Given the description of an element on the screen output the (x, y) to click on. 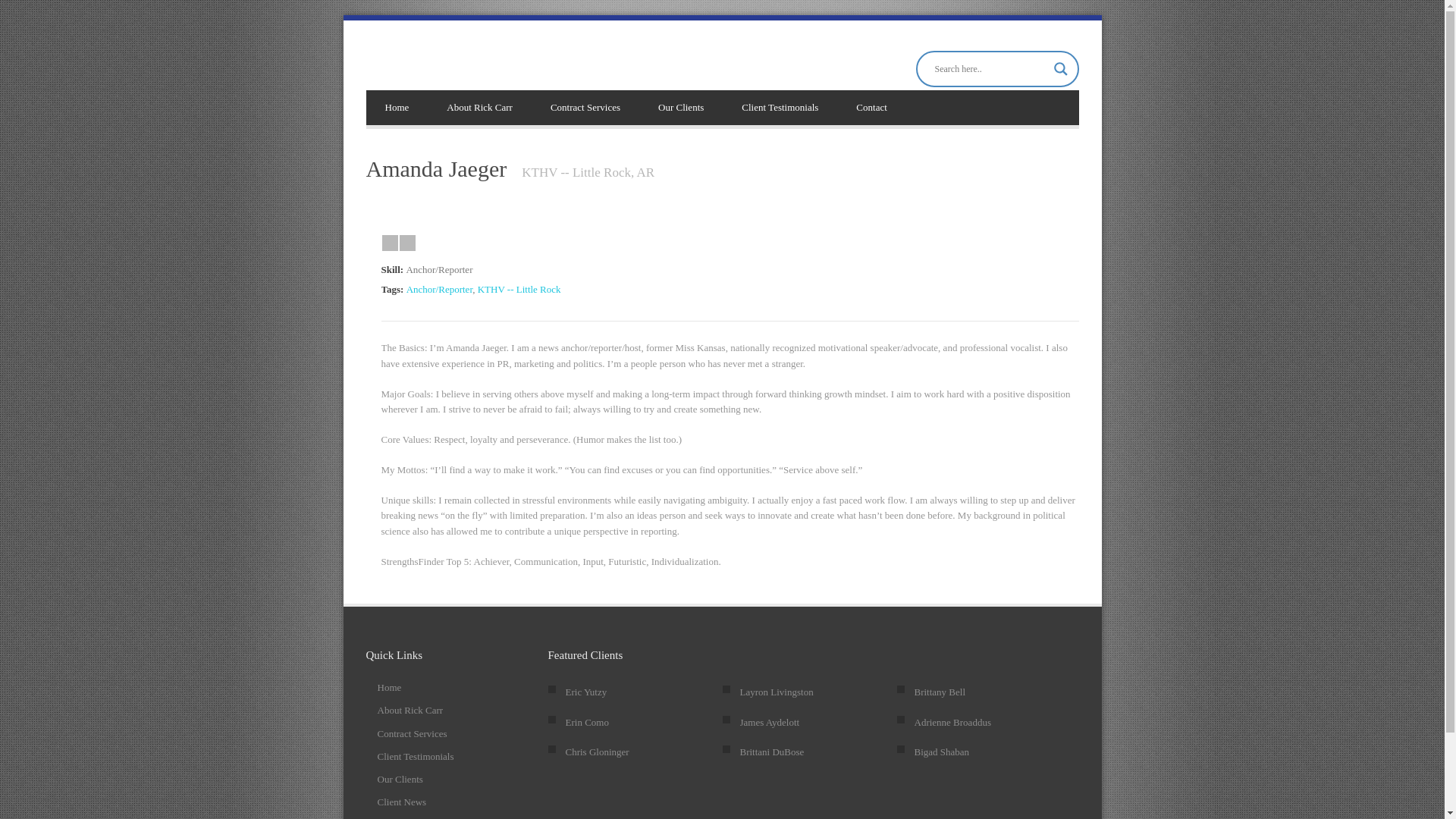
About Rick Carr (410, 709)
Chris Gloninger (597, 751)
Eric Yutzy (586, 691)
Contact (871, 107)
Brittany Bell (940, 691)
Client News (401, 801)
Erin Como (587, 722)
Home (396, 107)
KTHV -- Little Rock (518, 288)
Contract Services (411, 733)
Our Clients (680, 107)
Adrienne Broaddus (952, 722)
Client Testimonials (415, 756)
Home (389, 686)
About Rick Carr (479, 107)
